Given the description of an element on the screen output the (x, y) to click on. 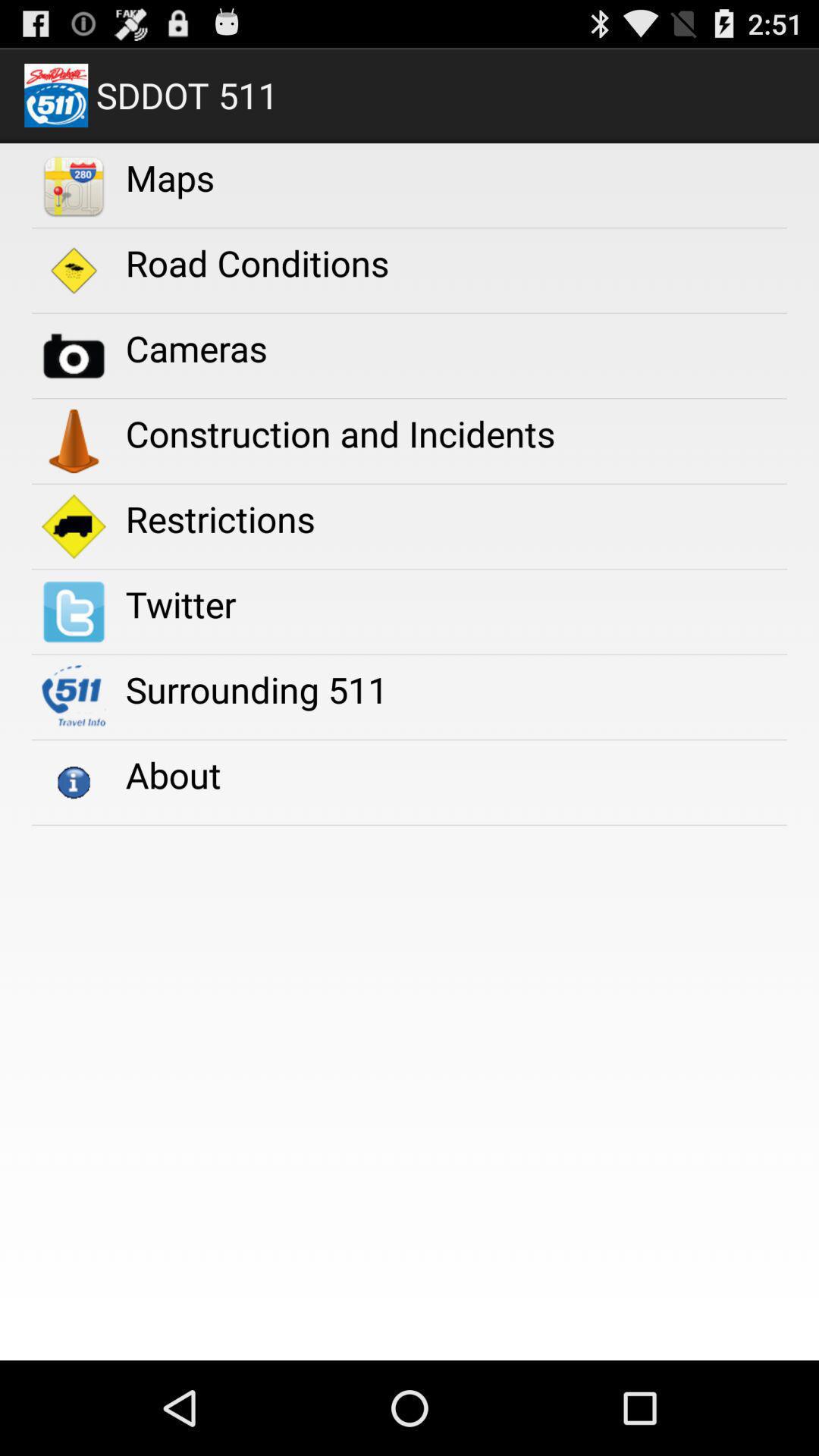
turn on maps item (169, 177)
